Given the description of an element on the screen output the (x, y) to click on. 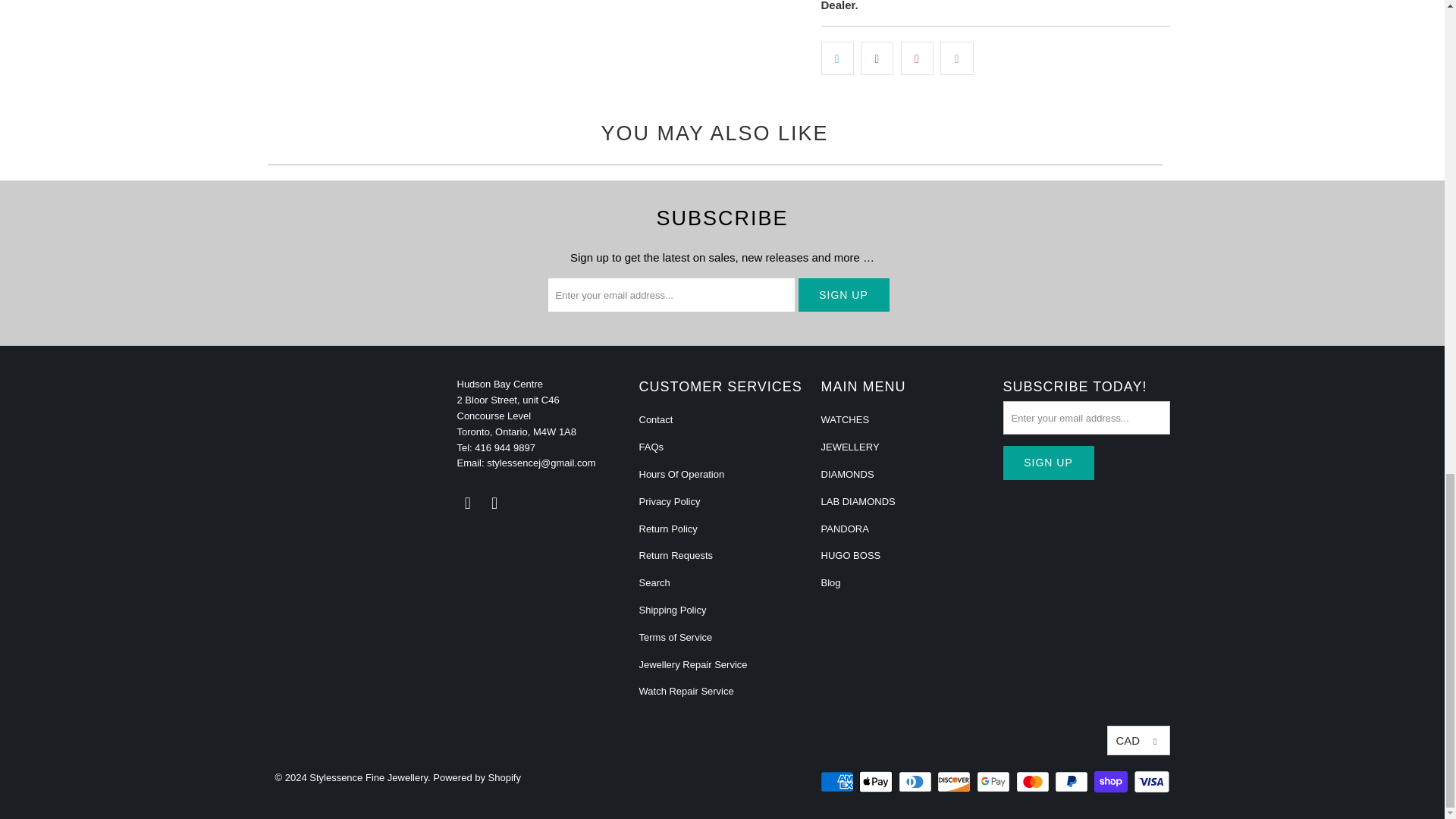
Mastercard (1034, 781)
Share this on Facebook (876, 57)
Shop Pay (1112, 781)
Stylessence Fine Jewellery on Facebook (468, 503)
Visa (1150, 781)
Stylessence Fine Jewellery on Instagram (494, 503)
Share this on Twitter (837, 57)
American Express (839, 781)
Sign Up (842, 295)
Diners Club (916, 781)
